Given the description of an element on the screen output the (x, y) to click on. 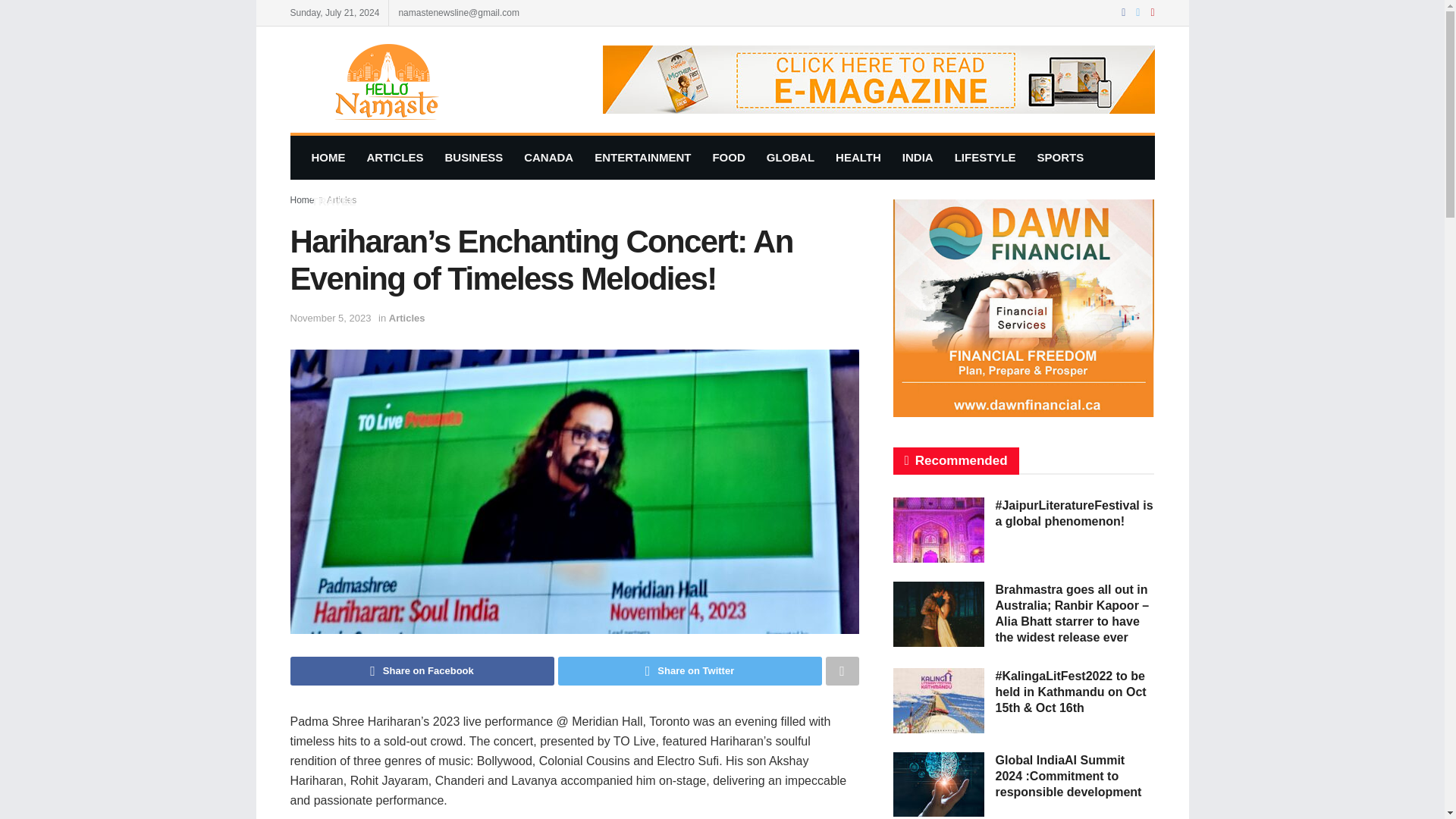
LIFESTYLE (984, 157)
TRAVEL (332, 201)
Articles (341, 199)
HEALTH (858, 157)
GLOBAL (790, 157)
INDIA (917, 157)
Share on Twitter (689, 670)
ARTICLES (394, 157)
BUSINESS (473, 157)
Share on Facebook (421, 670)
HOME (327, 157)
November 5, 2023 (330, 317)
SPORTS (1060, 157)
ENTERTAINMENT (642, 157)
Articles (406, 317)
